Given the description of an element on the screen output the (x, y) to click on. 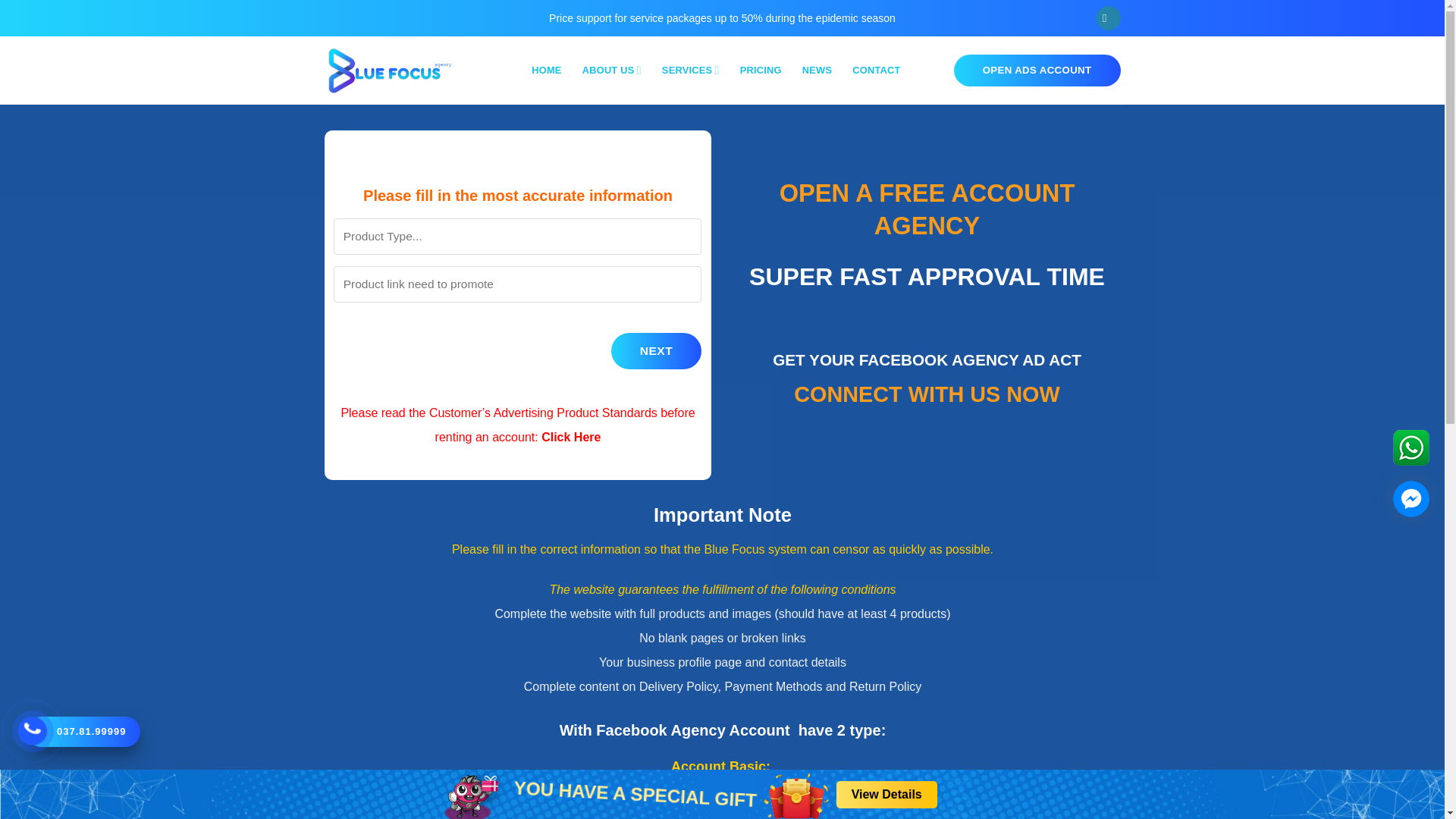
CONTACT (875, 70)
NEXT (655, 350)
ABOUT US (612, 70)
NEXT (517, 309)
SERVICES (690, 70)
PRICING (760, 70)
OPEN ADS ACCOUNT (1037, 70)
Send (1059, 512)
Click Here (570, 436)
